Given the description of an element on the screen output the (x, y) to click on. 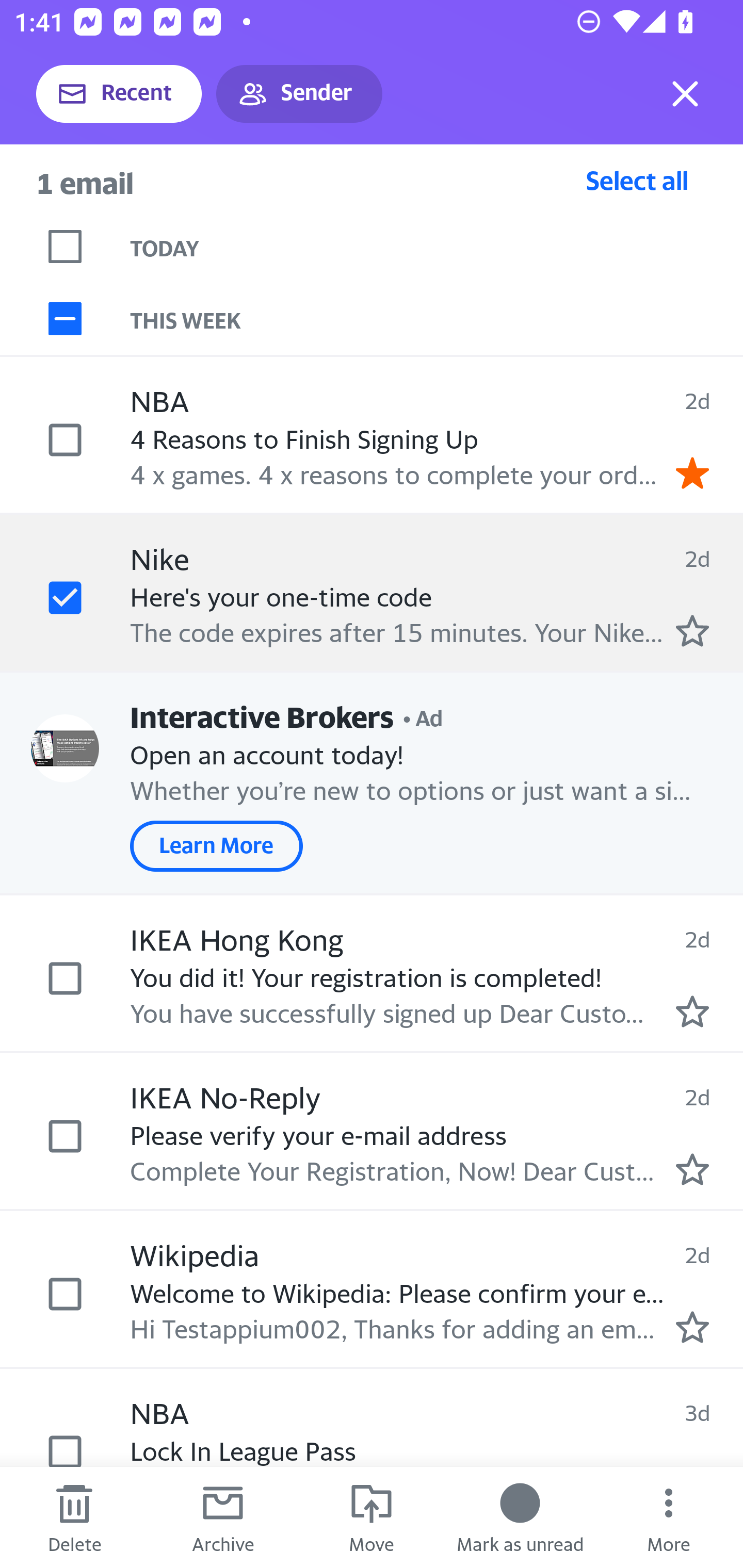
Sender (299, 93)
Exit selection mode (684, 93)
Select all (637, 180)
THIS WEEK (436, 318)
Remove star. (692, 472)
Mark as starred. (692, 631)
Mark as starred. (692, 1012)
Mark as starred. (692, 1168)
Mark as starred. (692, 1327)
Delete (74, 1517)
Archive (222, 1517)
Move (371, 1517)
Mark as unread (519, 1517)
More (668, 1517)
